Given the description of an element on the screen output the (x, y) to click on. 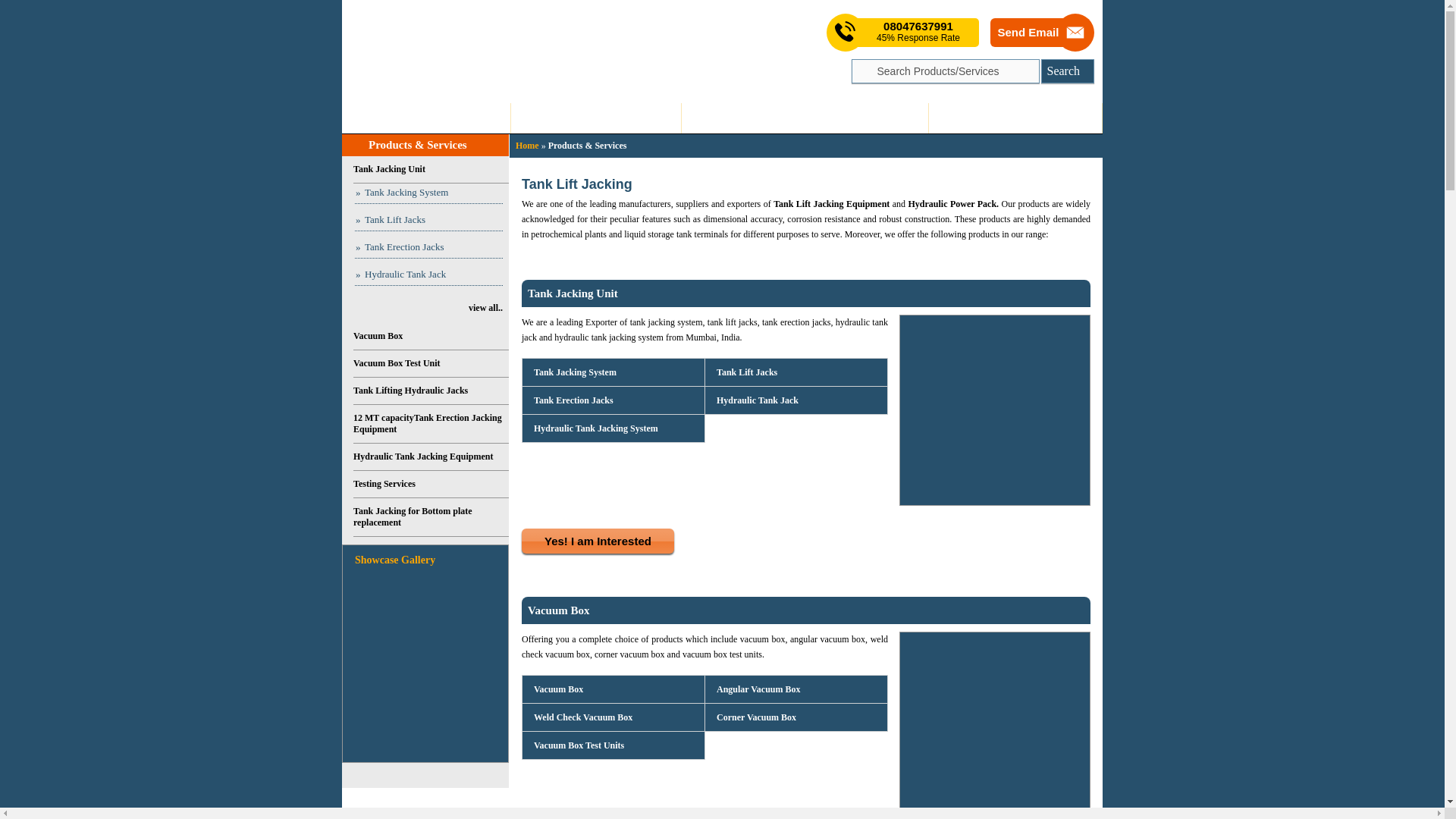
Tank Jacking Unit (572, 293)
Tank Jacking System (428, 193)
Weld Check Vacuum Box (581, 716)
Send SMS Free (917, 32)
Tank Jacking Unit (430, 169)
Vacuum Box (558, 610)
Corner Vacuum Box (755, 716)
Hydraulic Tank Jacking System (595, 427)
Tank Erection Jacks (572, 400)
Hydraulic Tank Jack (756, 400)
Profile (596, 118)
Tank Lift Jacks (745, 372)
Contact Us (1015, 118)
Angular Vacuum Box (757, 689)
Home (426, 118)
